Given the description of an element on the screen output the (x, y) to click on. 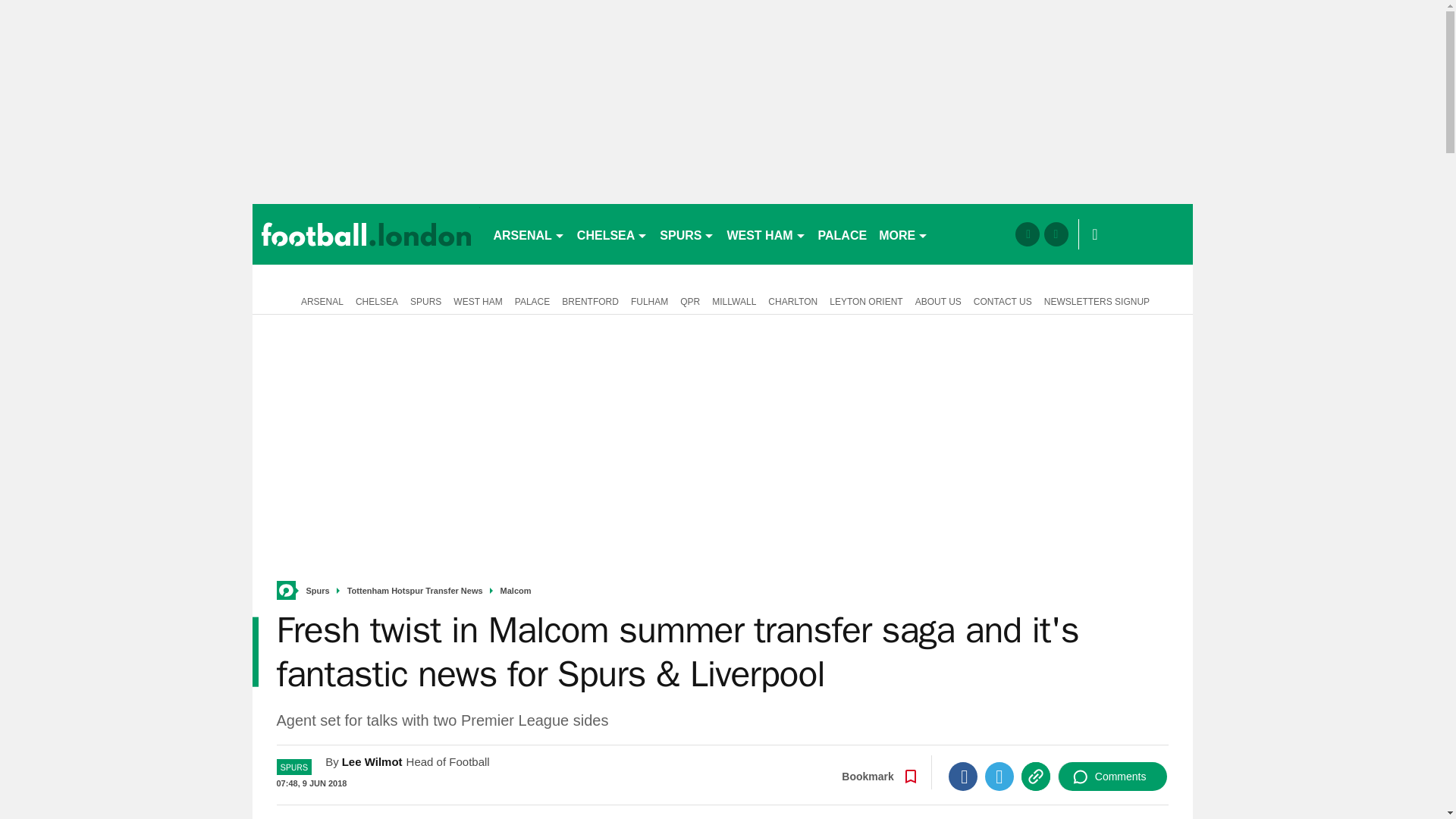
footballlondon (365, 233)
CHELSEA (611, 233)
PALACE (842, 233)
ARSENAL (528, 233)
WEST HAM (765, 233)
Comments (1112, 776)
twitter (1055, 233)
facebook (1026, 233)
SPURS (686, 233)
MORE (903, 233)
Facebook (962, 776)
Twitter (999, 776)
